Given the description of an element on the screen output the (x, y) to click on. 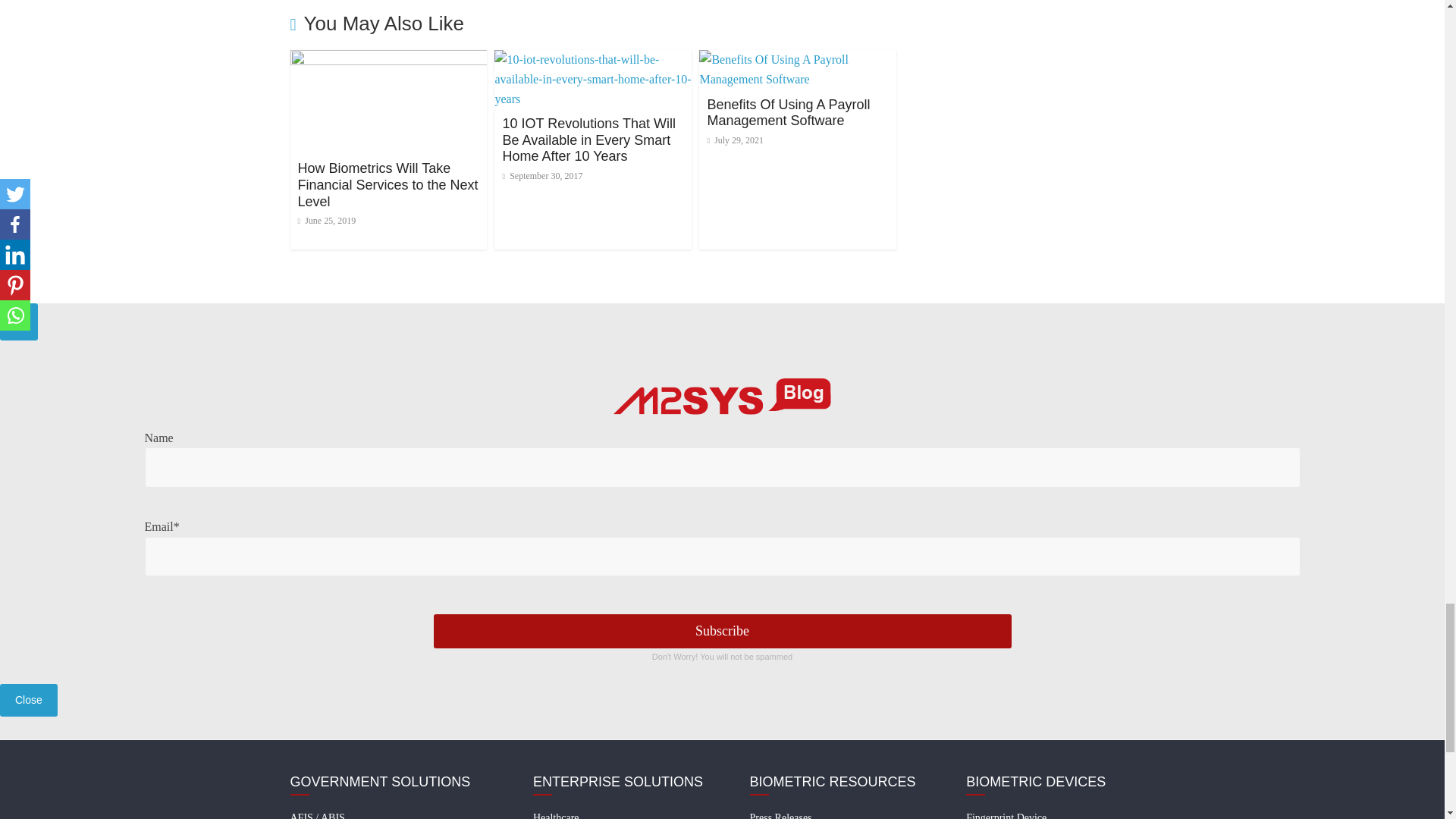
Subscribe (722, 631)
